Given the description of an element on the screen output the (x, y) to click on. 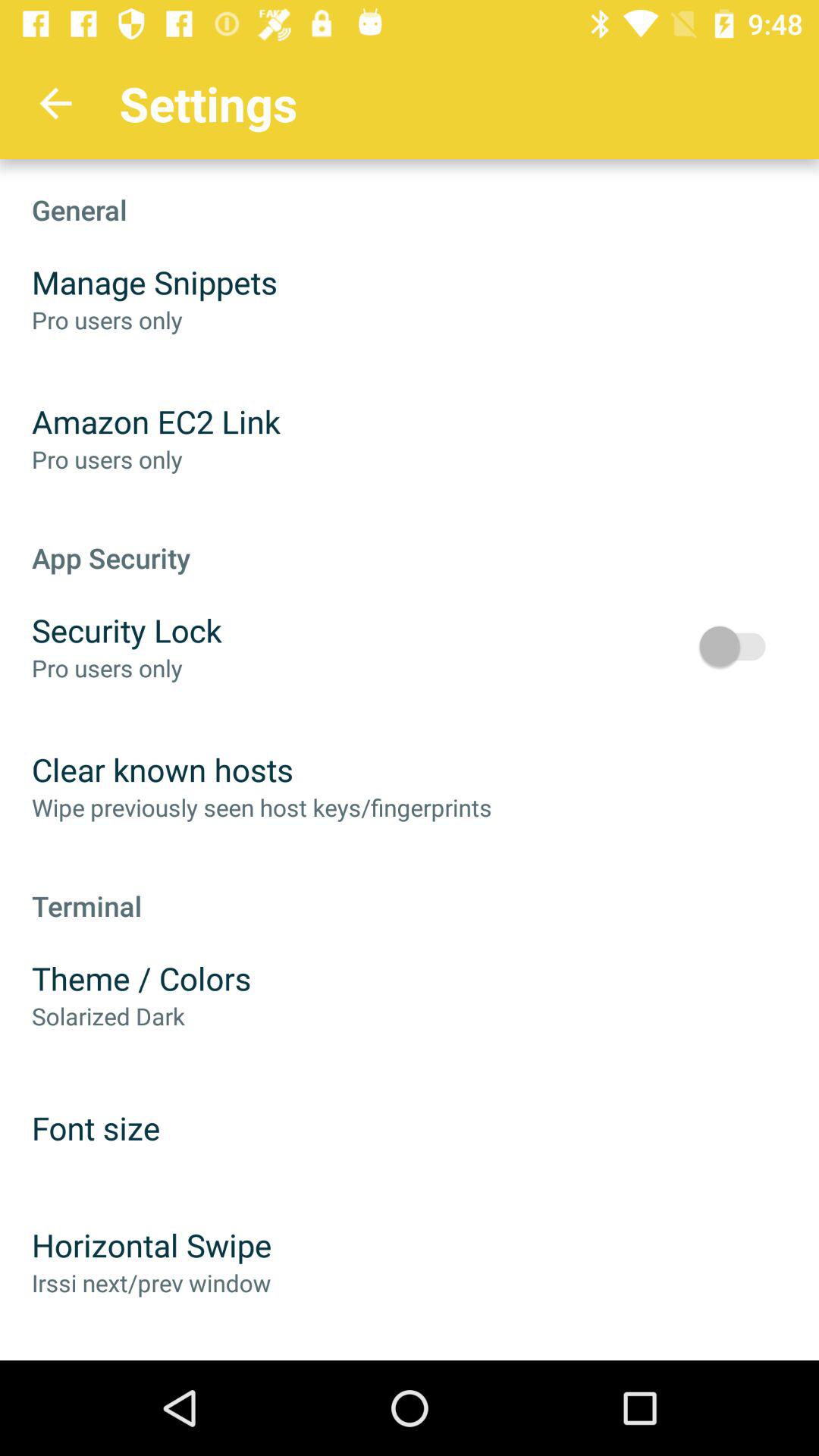
open the icon above security lock icon (409, 541)
